Given the description of an element on the screen output the (x, y) to click on. 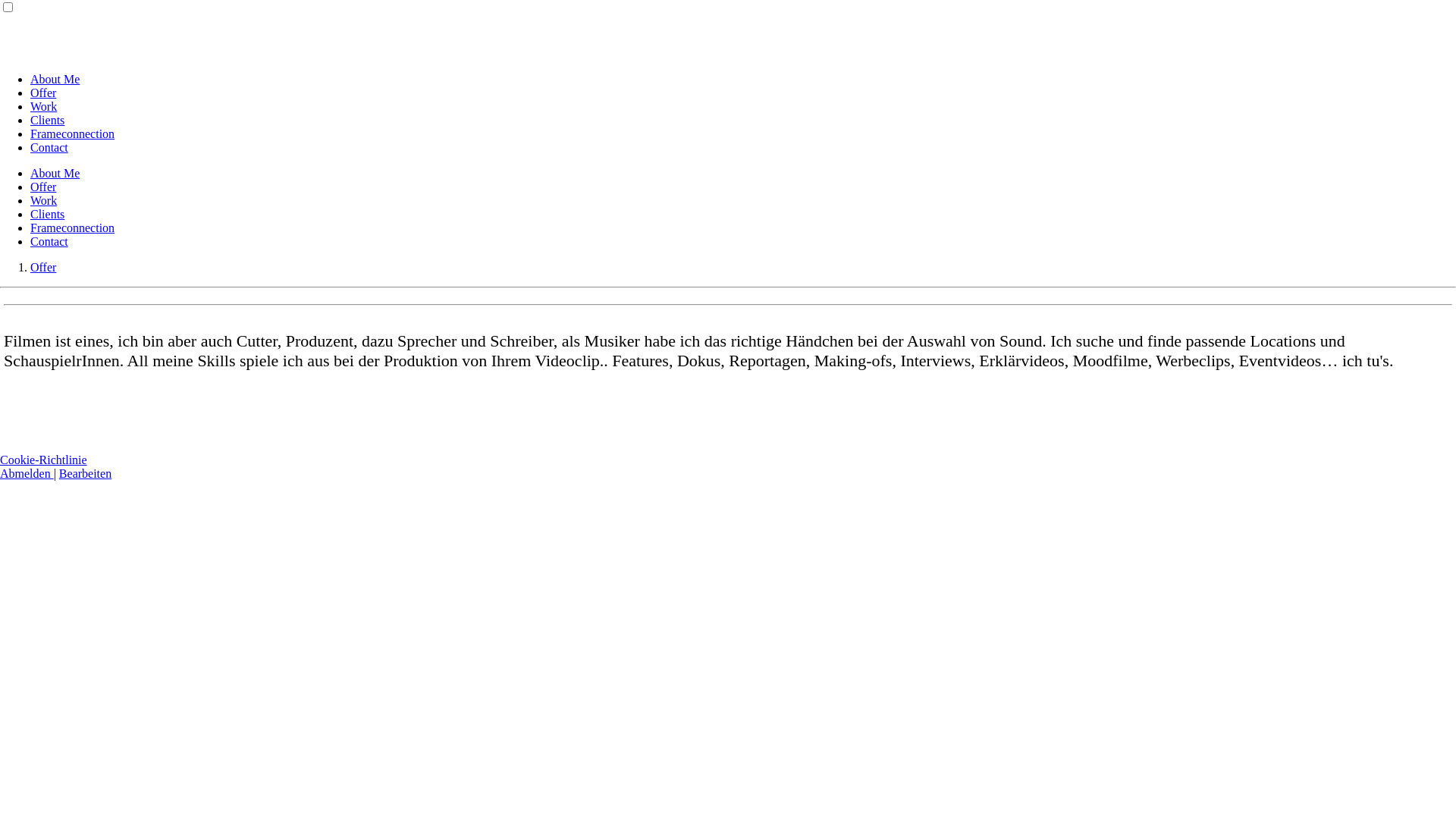
Offer Element type: text (43, 266)
Offer Element type: text (43, 186)
Offer Element type: text (43, 92)
Clients Element type: text (47, 213)
Work Element type: text (43, 200)
About Me Element type: text (54, 78)
Contact Element type: text (49, 147)
Abmelden Element type: text (26, 473)
Frameconnection Element type: text (72, 133)
Bearbeiten Element type: text (85, 473)
Clients Element type: text (47, 119)
Frameconnection Element type: text (72, 227)
About Me Element type: text (54, 172)
Cookie-Richtlinie Element type: text (43, 459)
Contact Element type: text (49, 241)
Work Element type: text (43, 106)
